Given the description of an element on the screen output the (x, y) to click on. 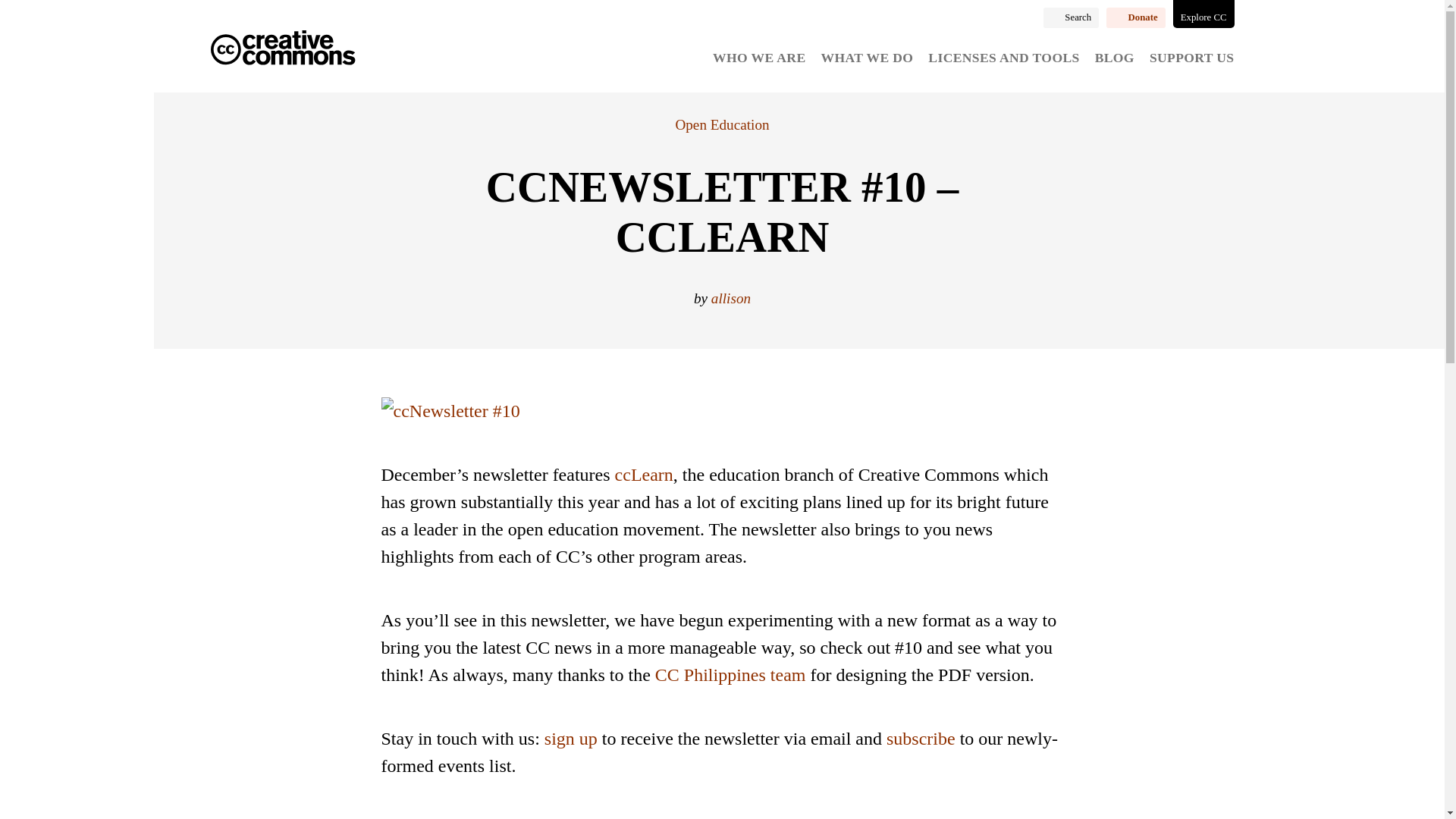
subscribe (920, 738)
SUPPORT US (1192, 57)
sign up (570, 738)
Creative Commons (283, 48)
Search (1071, 17)
WHO WE ARE (759, 57)
Open Education (721, 124)
BLOG (1114, 57)
Explore CC (1203, 13)
ccLearn (643, 474)
